Given the description of an element on the screen output the (x, y) to click on. 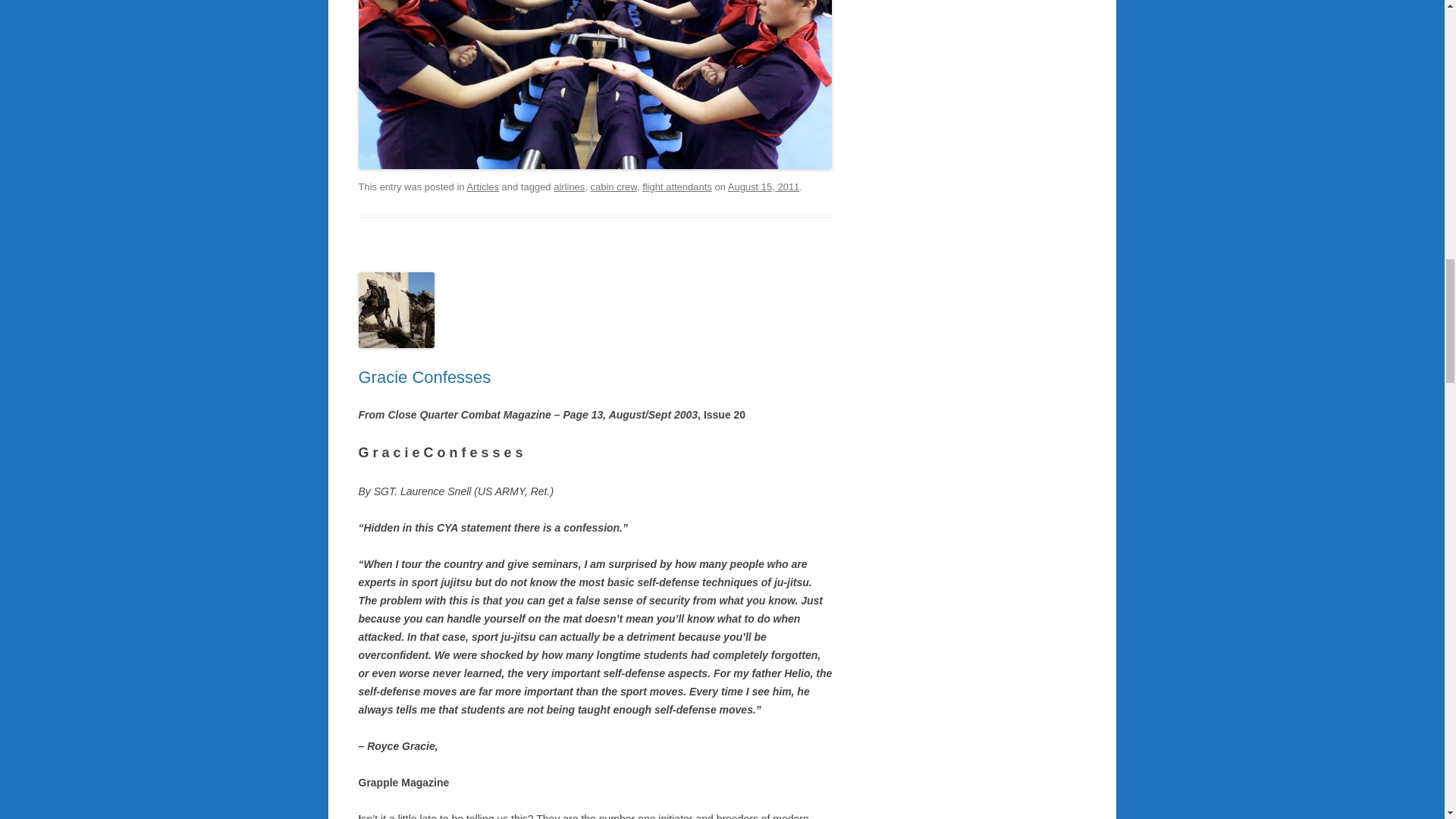
Gracie Confesses (424, 376)
6:00 am (763, 186)
cabin crew (614, 186)
Flight Attendants Close Tan Sao (594, 84)
Articles (482, 186)
flight attendants (676, 186)
airlines (569, 186)
August 15, 2011 (763, 186)
